Given the description of an element on the screen output the (x, y) to click on. 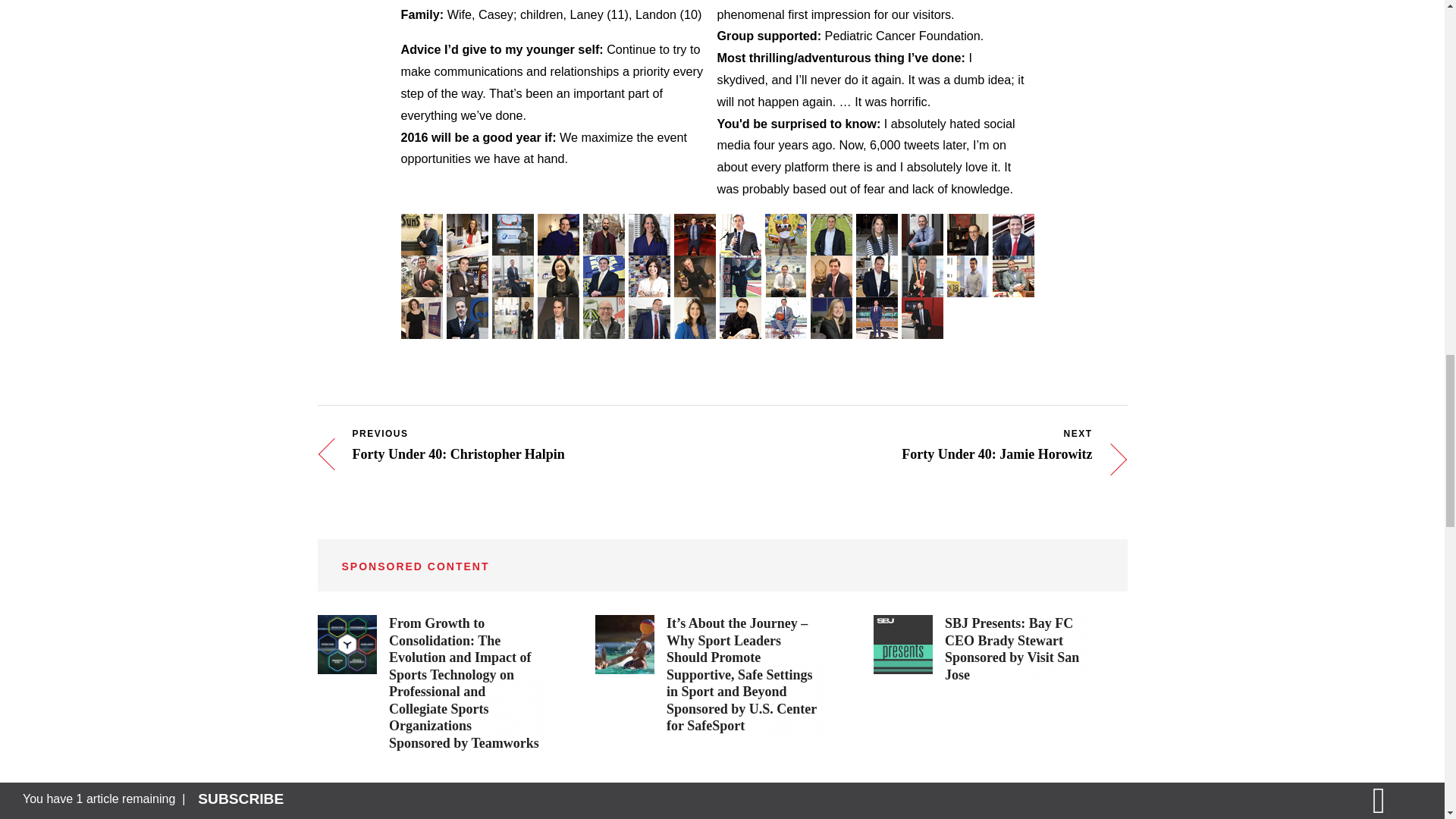
Al Guido (1012, 225)
Christopher Halpin (421, 267)
Kim Beauvais (466, 225)
David Greenspan (967, 225)
Amy Huchthausen (558, 267)
Shannon Dan (648, 225)
Jamie Horowitz (513, 267)
Charlie Hussey (603, 267)
Kevin Demoff (740, 225)
Todd Fischer (922, 225)
Adam Davis (695, 225)
Rob Higgins (466, 267)
Aaron Cohen (558, 225)
Anthony DiCosmo (785, 225)
Hymie Elhai (830, 225)
